Given the description of an element on the screen output the (x, y) to click on. 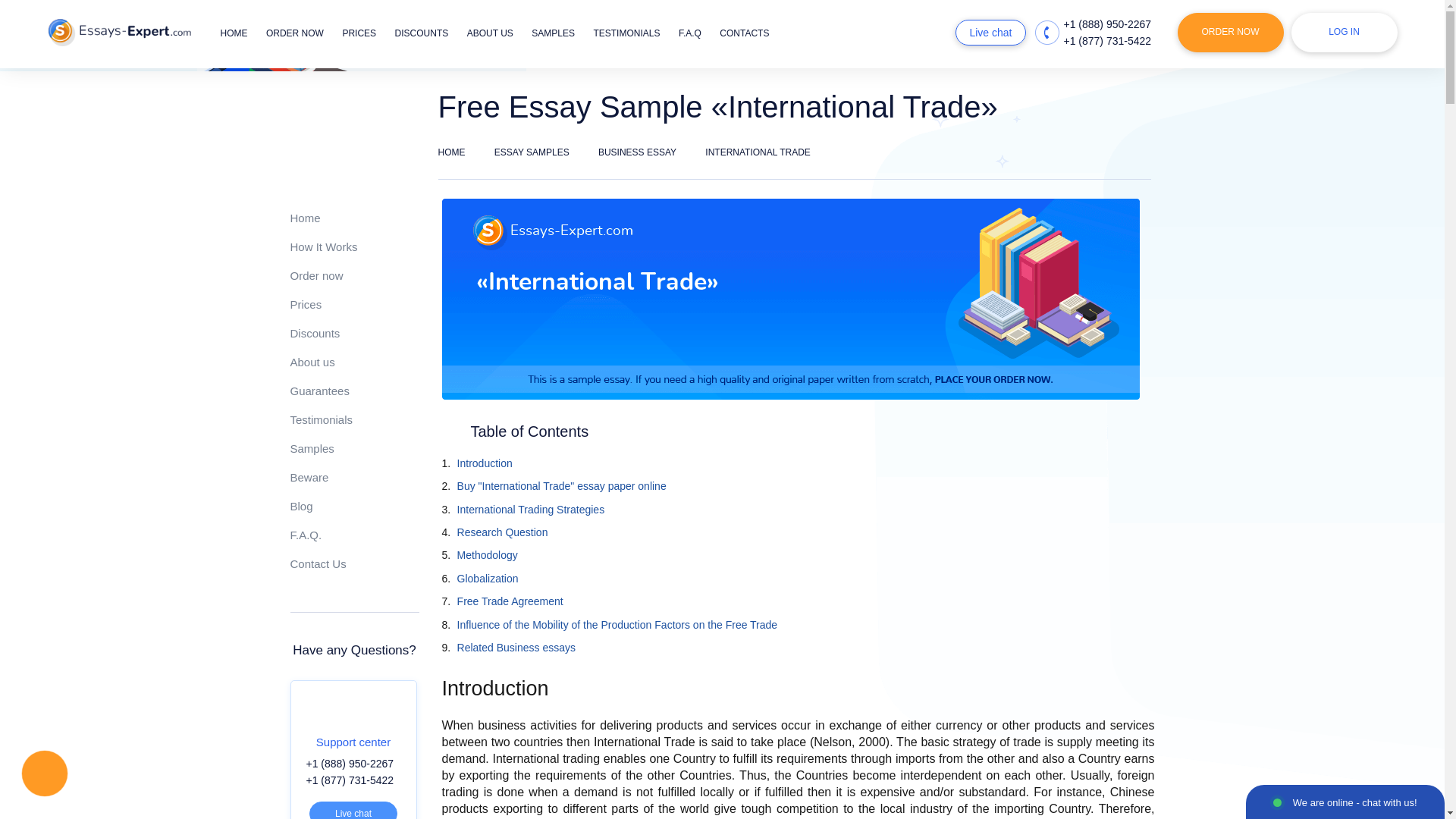
HOME (233, 32)
ORDER NOW (1229, 32)
BUSINESS ESSAY (637, 151)
Guarantees (319, 390)
DISCOUNTS (421, 32)
Home (304, 217)
CONTACTS (743, 32)
Essays-Expert.com (118, 31)
Samples (311, 448)
About us (311, 361)
